Given the description of an element on the screen output the (x, y) to click on. 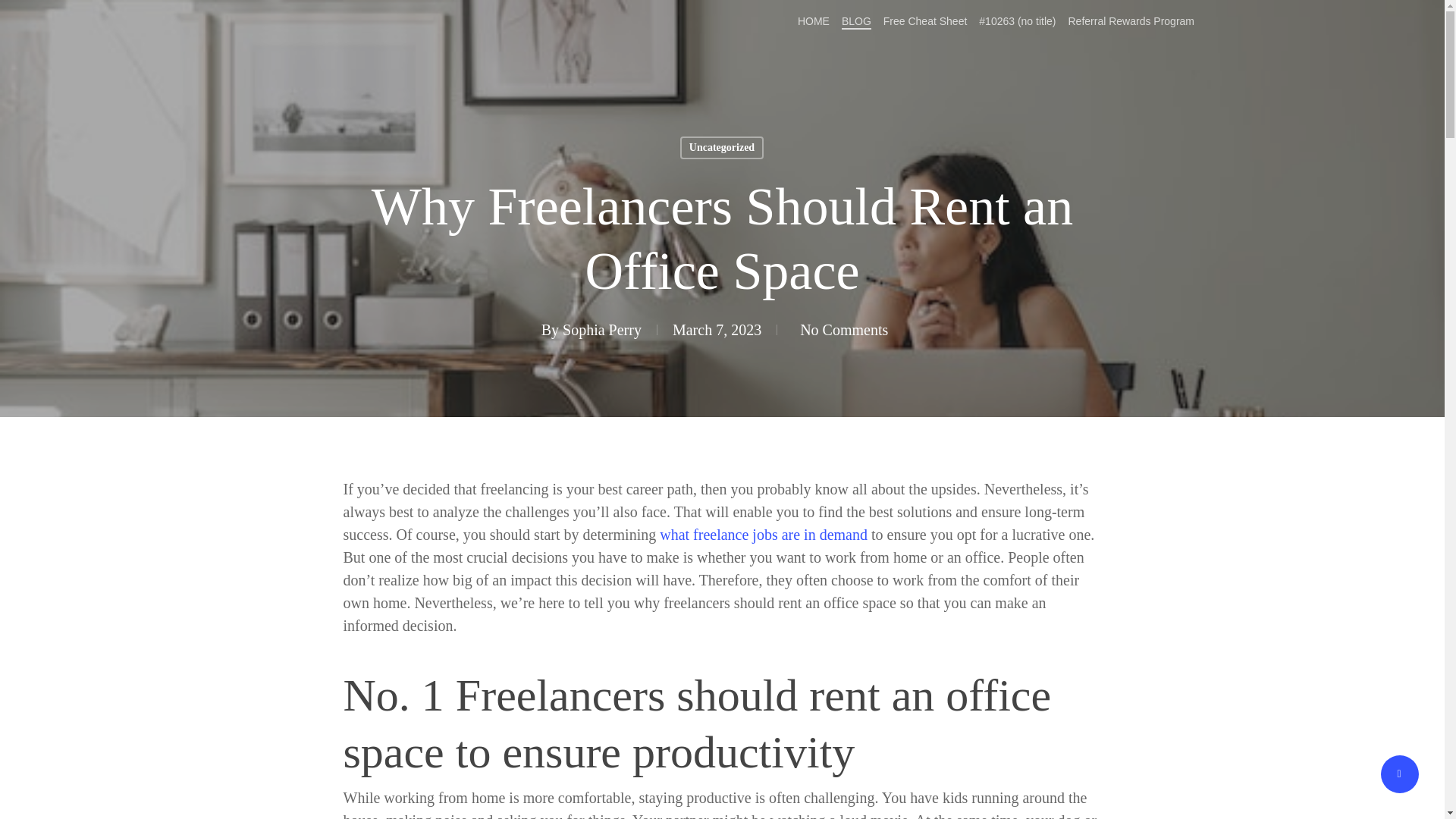
Sophia Perry (602, 329)
Referral Rewards Program (1130, 20)
Free Cheat Sheet (925, 20)
BLOG (855, 20)
what freelance jobs are in demand (763, 534)
Posts by Sophia Perry (602, 329)
HOME (813, 20)
No Comments (840, 329)
Uncategorized (720, 147)
